Given the description of an element on the screen output the (x, y) to click on. 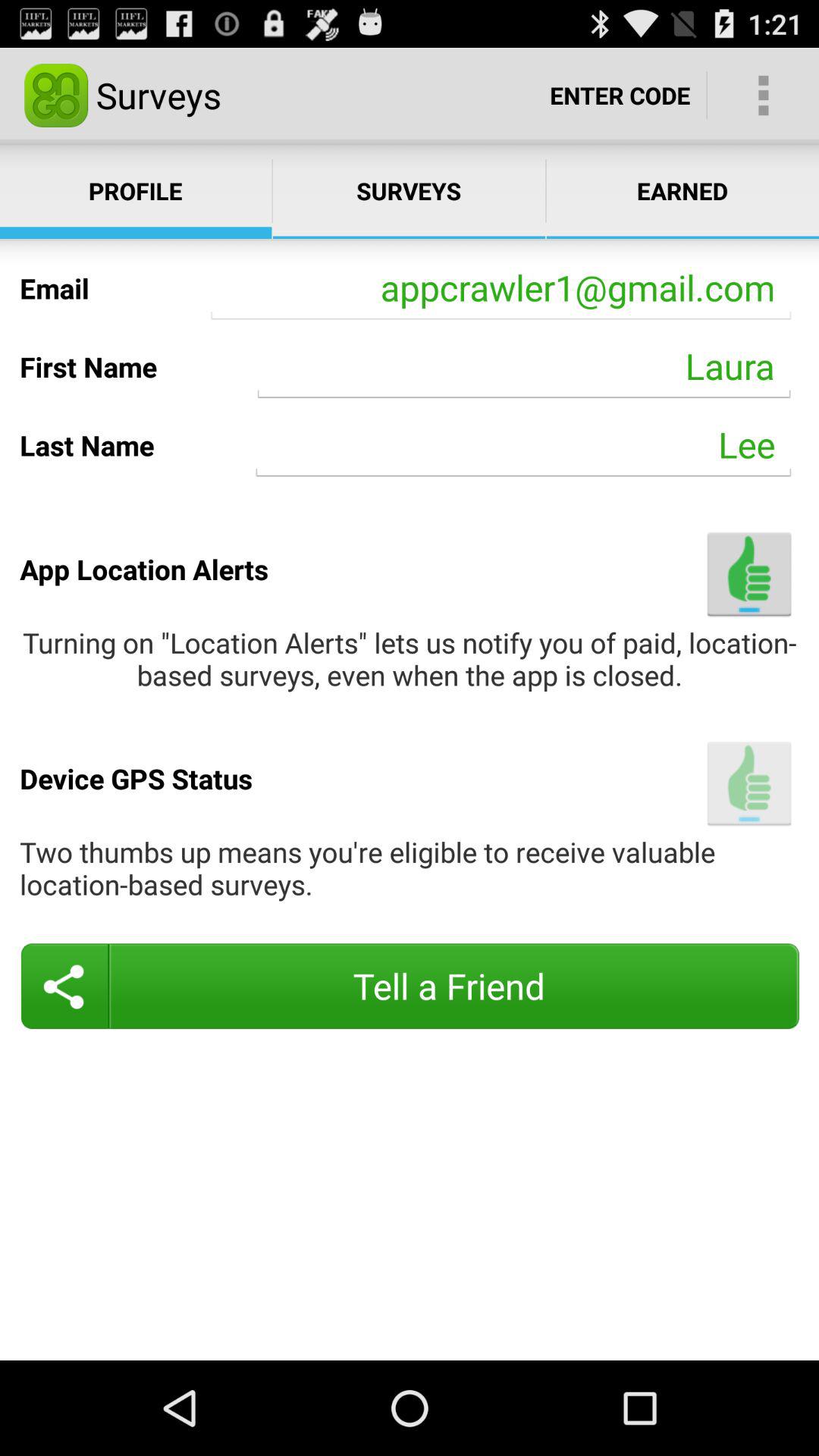
click item next to app location alerts item (749, 573)
